Given the description of an element on the screen output the (x, y) to click on. 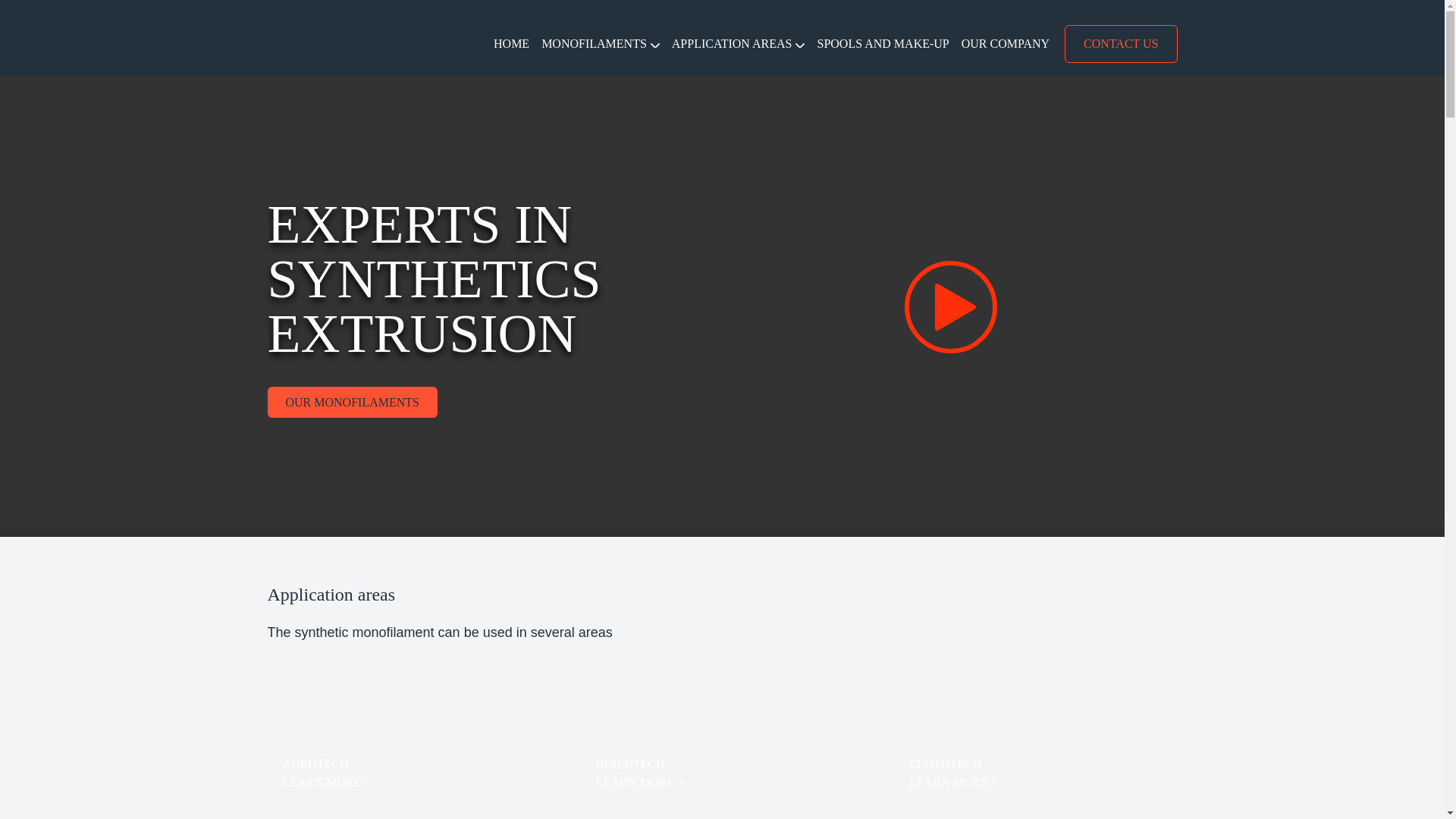
OUR MONOFILAMENTS (351, 401)
OUR COMPANY (1004, 42)
HOME (511, 42)
CONTACT US (1120, 44)
SPOOLS AND MAKE-UP (882, 42)
